Given the description of an element on the screen output the (x, y) to click on. 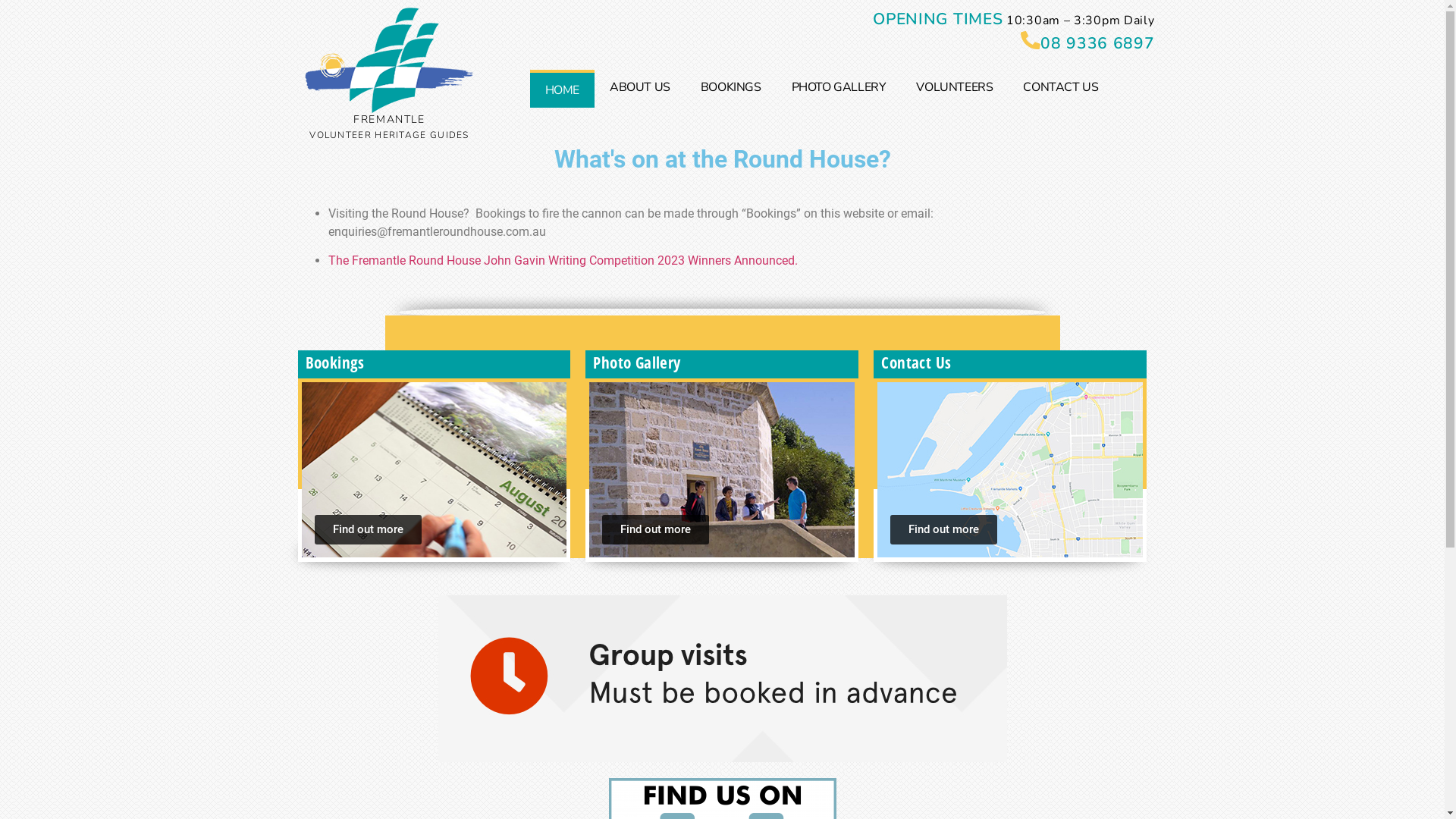
CONTACT US Element type: text (1060, 86)
BOOKINGS Element type: text (730, 86)
ABOUT US Element type: text (639, 86)
PHOTO GALLERY Element type: text (838, 86)
Find out more Element type: text (943, 529)
Find out more Element type: text (655, 529)
HOME Element type: text (562, 88)
Find out more Element type: text (366, 529)
VOLUNTEERS Element type: text (953, 86)
